Given the description of an element on the screen output the (x, y) to click on. 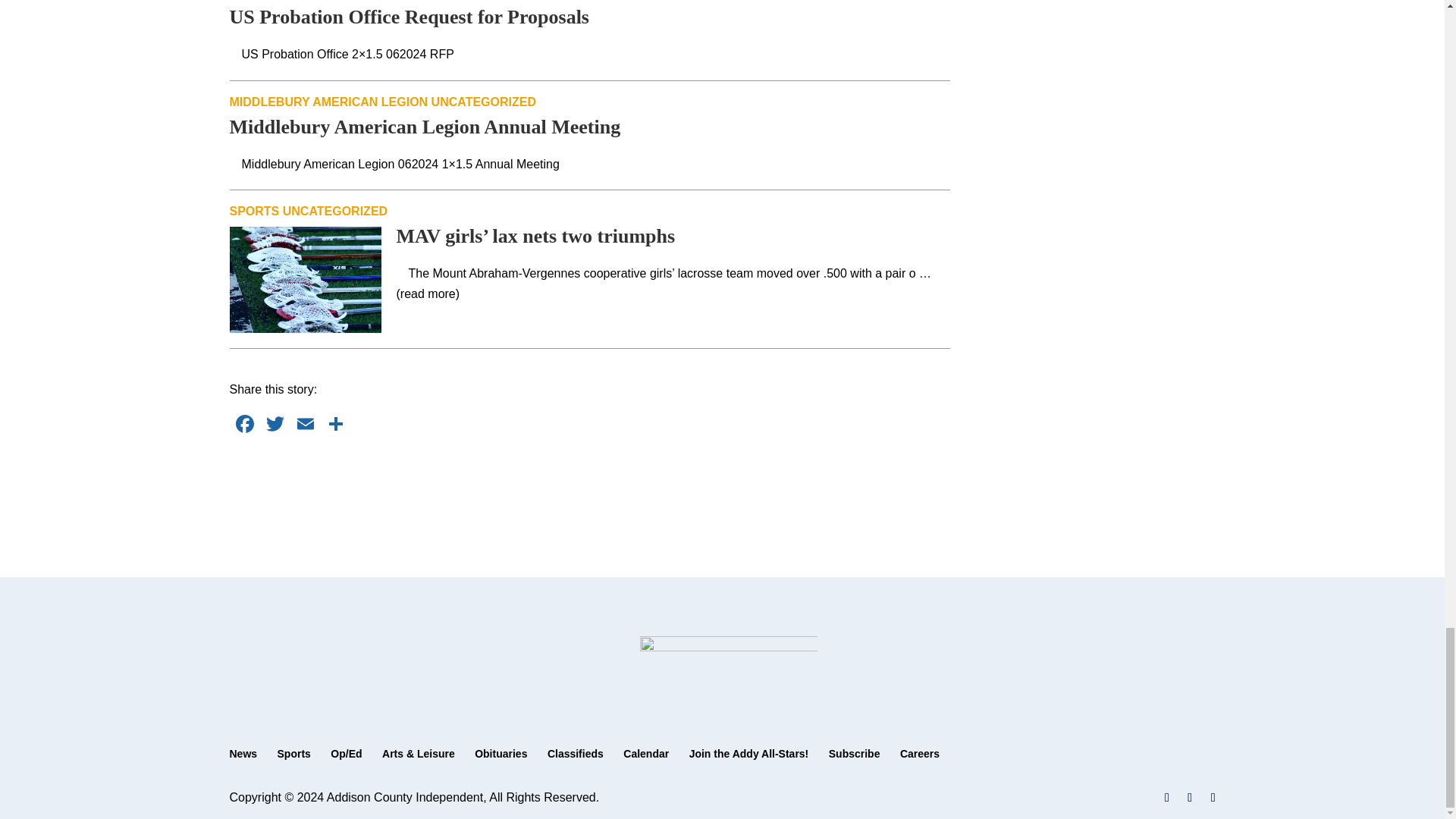
Facebook (243, 425)
Email (304, 425)
Twitter (274, 425)
3rd party ad content (590, 486)
